Given the description of an element on the screen output the (x, y) to click on. 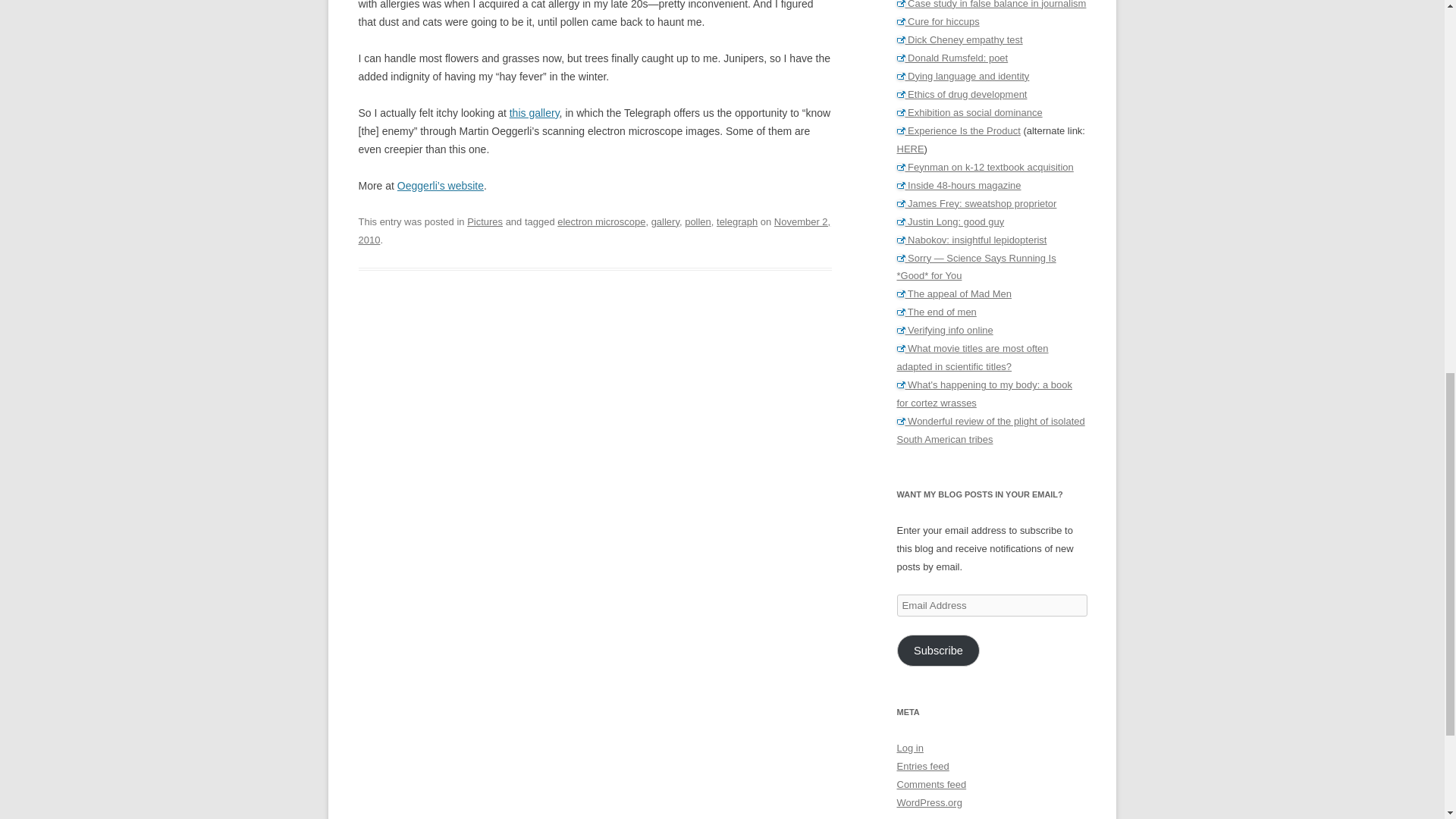
James Frey: sweatshop proprietor (976, 203)
HERE (909, 148)
Dying language and identity (962, 75)
Feynman on k-12 textbook acquisition (984, 166)
Experience Is the Product (958, 130)
Cure for hiccups (937, 21)
Justin Long: good guy (950, 221)
Ethics of drug development (961, 93)
this gallery (534, 112)
Case study in false balance in journalism (991, 4)
pollen (697, 221)
Dick Cheney empathy test (959, 39)
Inside 48-hours magazine (958, 184)
Donald Rumsfeld: poet (951, 57)
8:25 AM (593, 230)
